Given the description of an element on the screen output the (x, y) to click on. 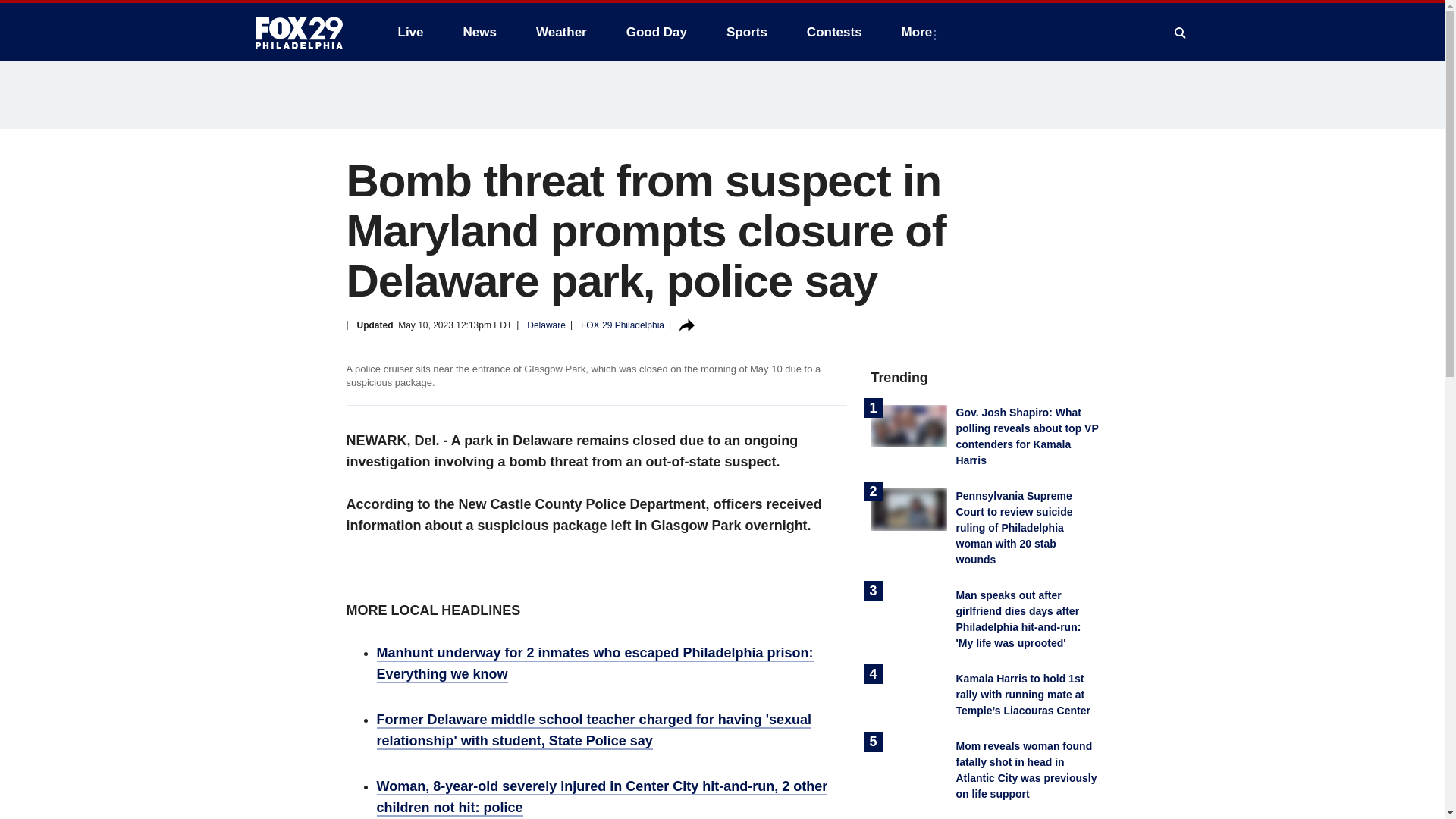
Weather (561, 32)
Live (410, 32)
Sports (746, 32)
Good Day (656, 32)
News (479, 32)
More (919, 32)
Contests (834, 32)
